Given the description of an element on the screen output the (x, y) to click on. 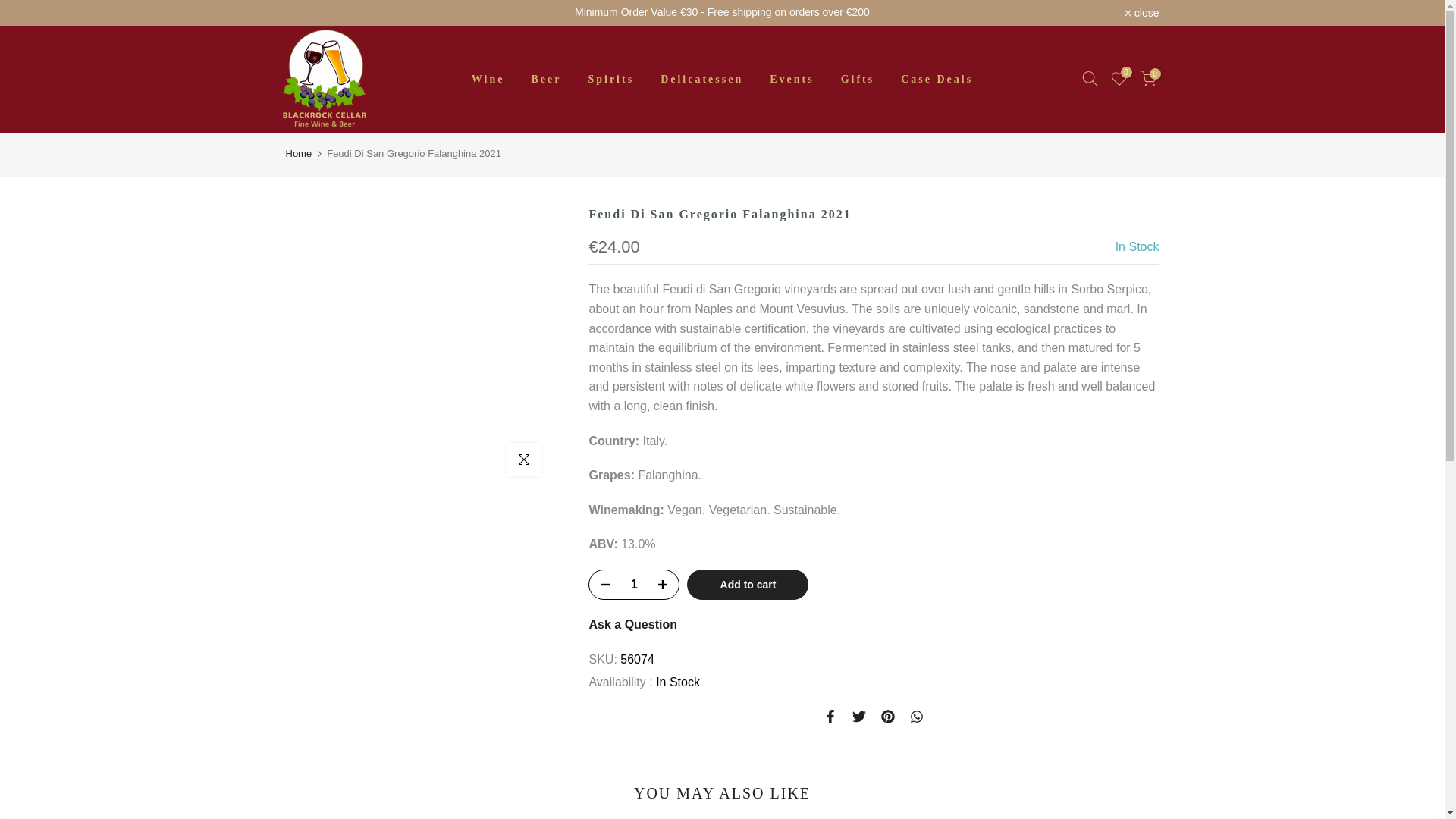
Wine (488, 79)
1 (634, 584)
close (1141, 12)
Skip to content (10, 7)
